Given the description of an element on the screen output the (x, y) to click on. 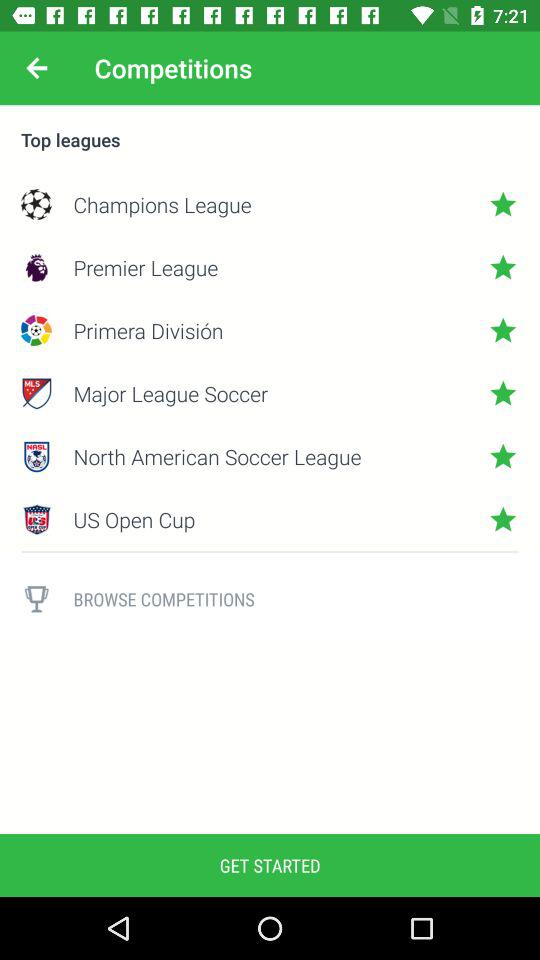
click item to the left of browse competitions item (36, 599)
